Given the description of an element on the screen output the (x, y) to click on. 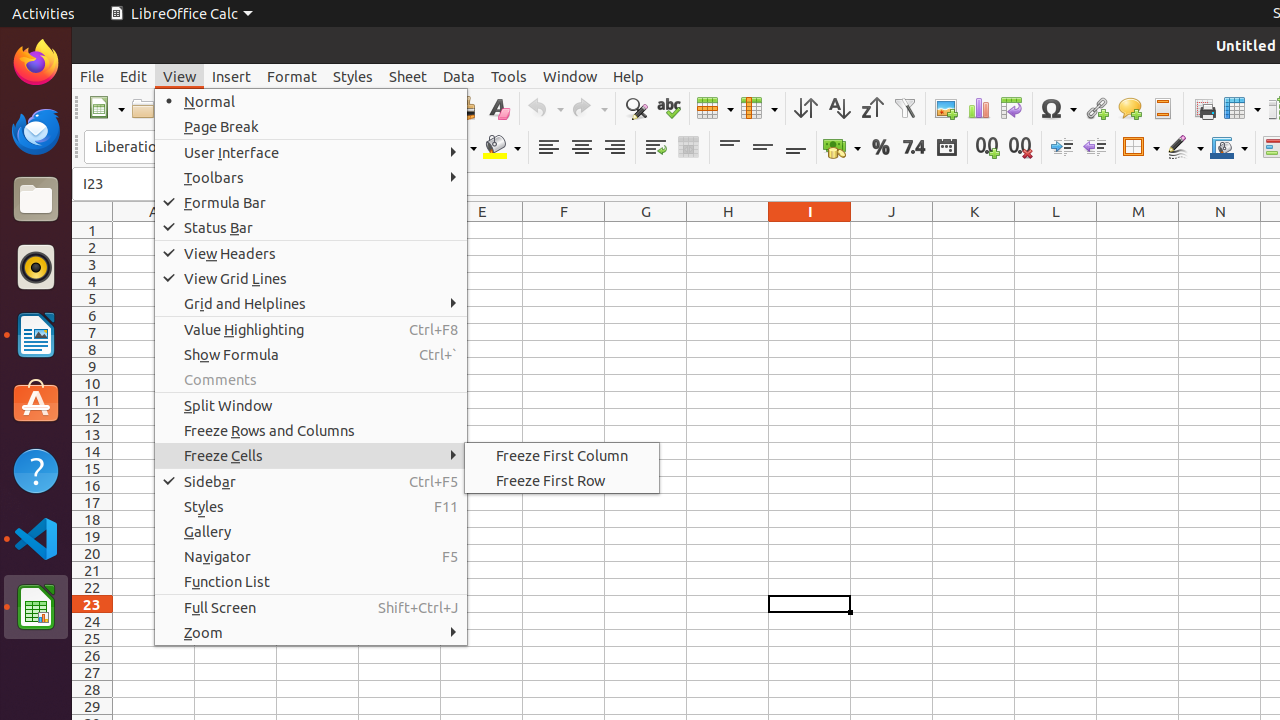
Chart Element type: push-button (978, 108)
M1 Element type: table-cell (1138, 230)
D1 Element type: table-cell (400, 230)
Border Color Element type: push-button (1229, 147)
AutoFilter Element type: push-button (904, 108)
